Given the description of an element on the screen output the (x, y) to click on. 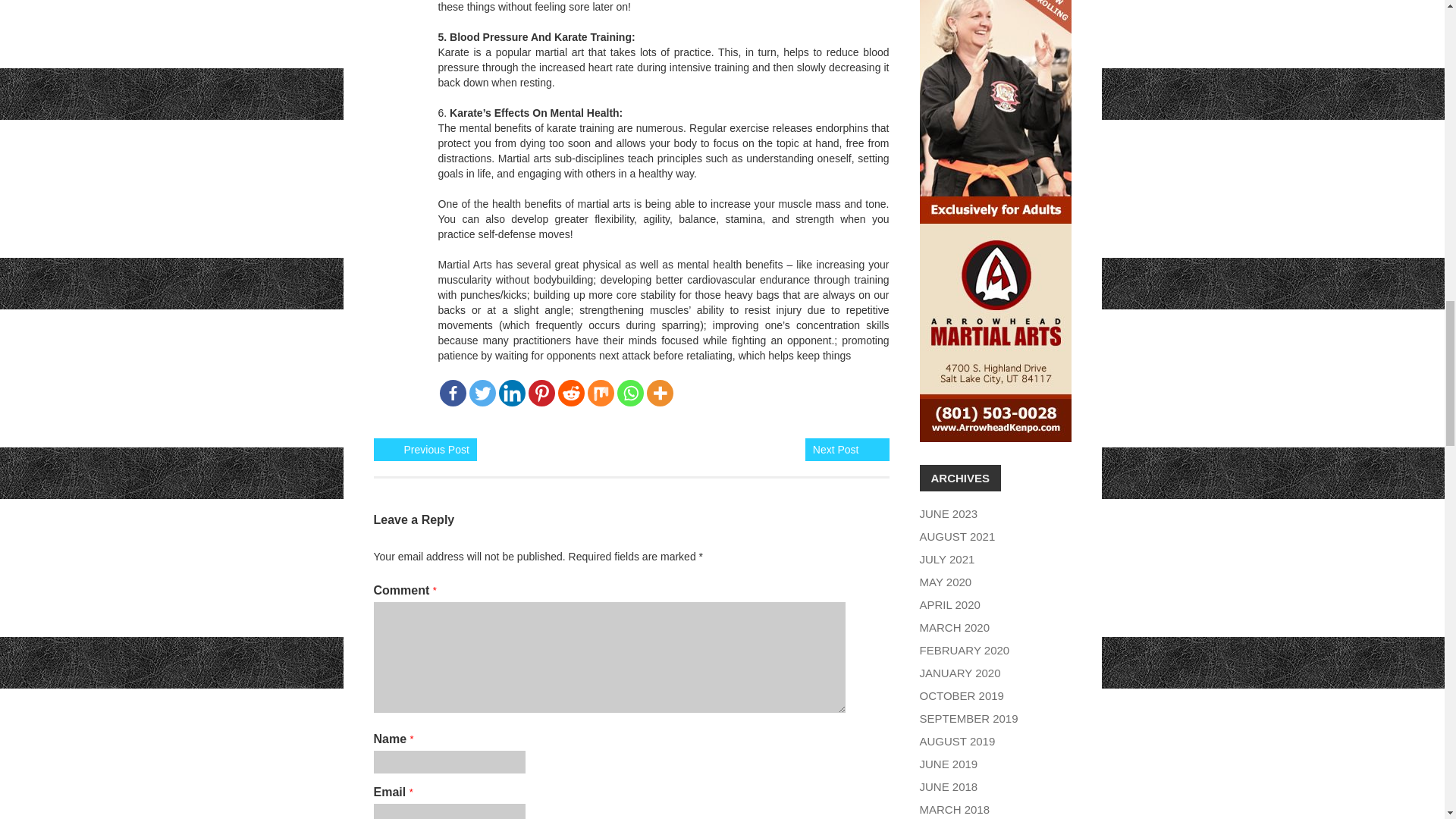
Linkedin (512, 393)
Reddit (571, 393)
Previous Post (436, 449)
More (659, 393)
Facebook (452, 393)
Whatsapp (630, 393)
Next Post (835, 449)
Pinterest (540, 393)
Twitter (481, 393)
Mix (599, 393)
